Given the description of an element on the screen output the (x, y) to click on. 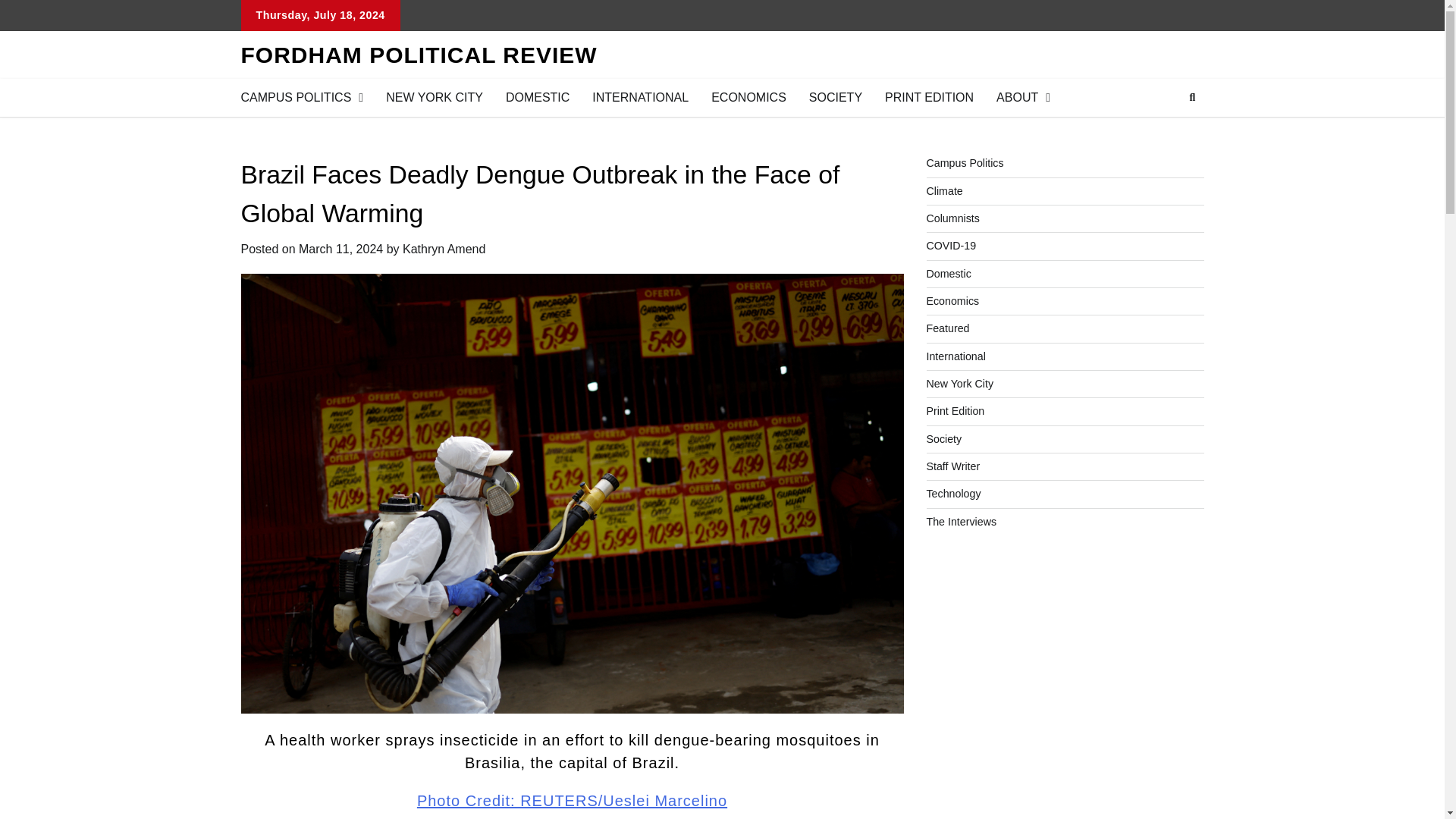
Kathryn Amend (443, 248)
FORDHAM POLITICAL REVIEW (418, 54)
DOMESTIC (537, 97)
NEW YORK CITY (434, 97)
Search (1192, 97)
ABOUT (1023, 97)
SOCIETY (835, 97)
CAMPUS POLITICS (301, 97)
PRINT EDITION (929, 97)
Search (1164, 133)
ECONOMICS (748, 97)
March 11, 2024 (340, 248)
INTERNATIONAL (640, 97)
